Given the description of an element on the screen output the (x, y) to click on. 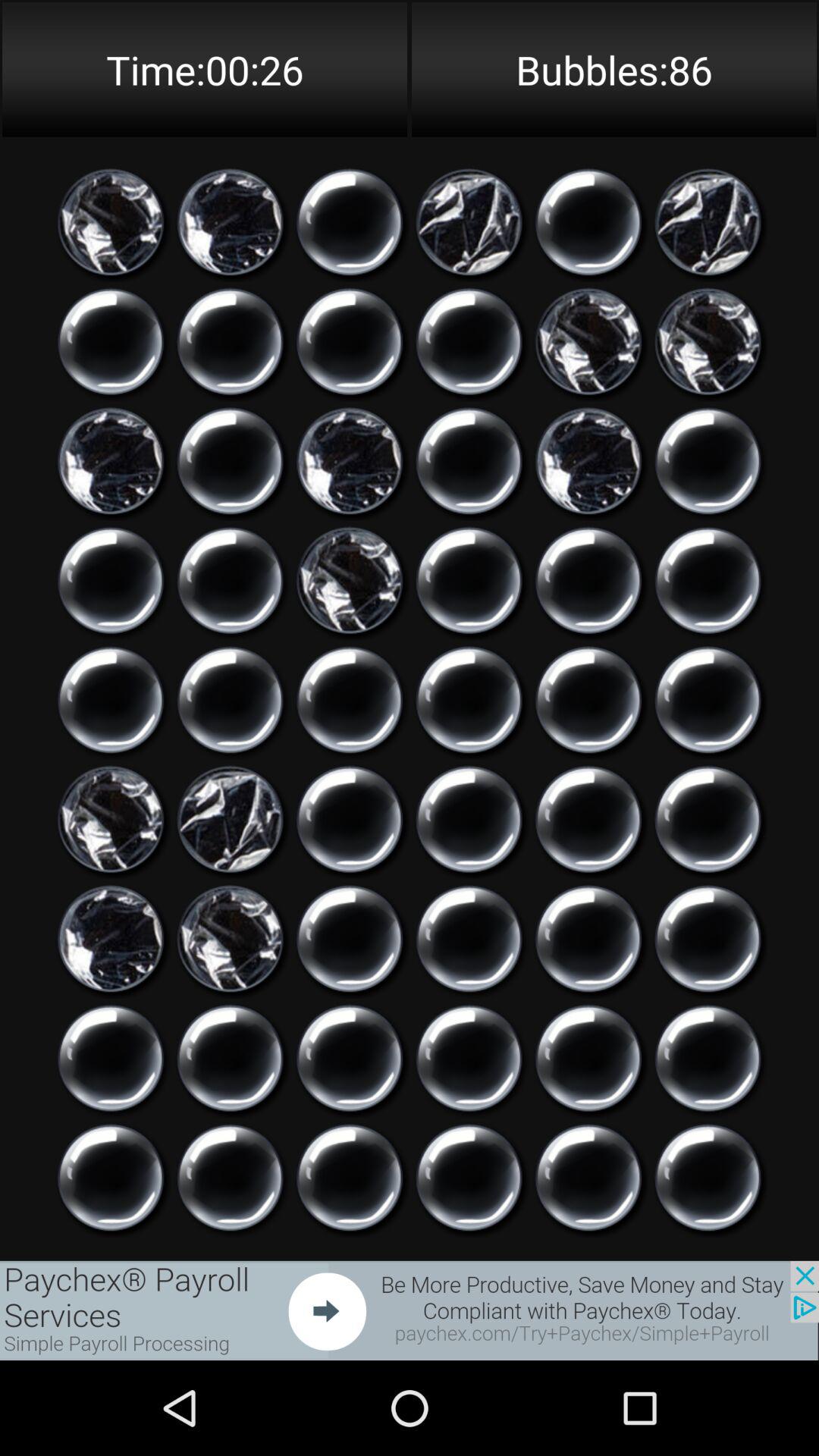
press bubble to pop (588, 819)
